Given the description of an element on the screen output the (x, y) to click on. 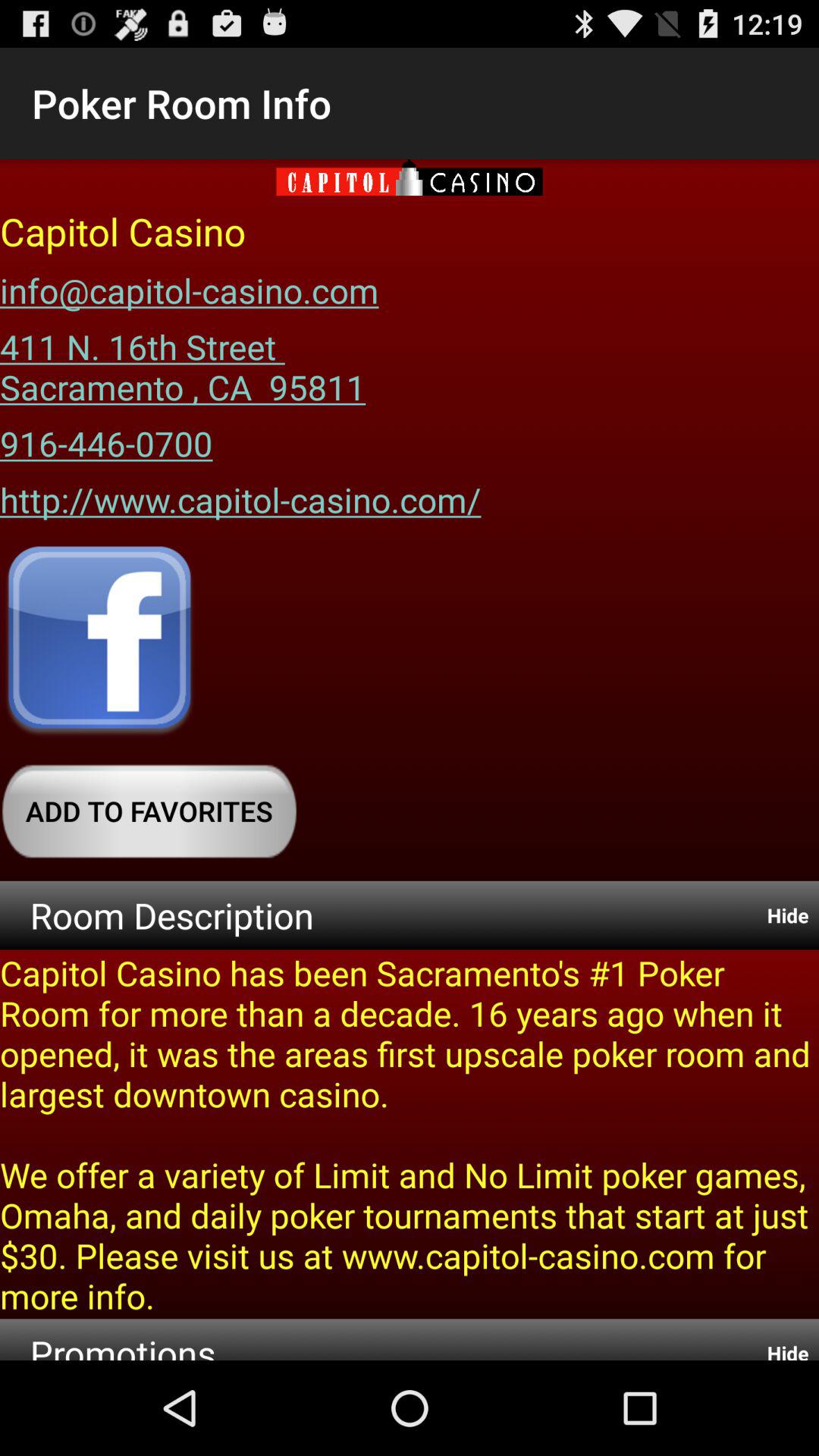
swipe to 916-446-0700 icon (106, 438)
